Given the description of an element on the screen output the (x, y) to click on. 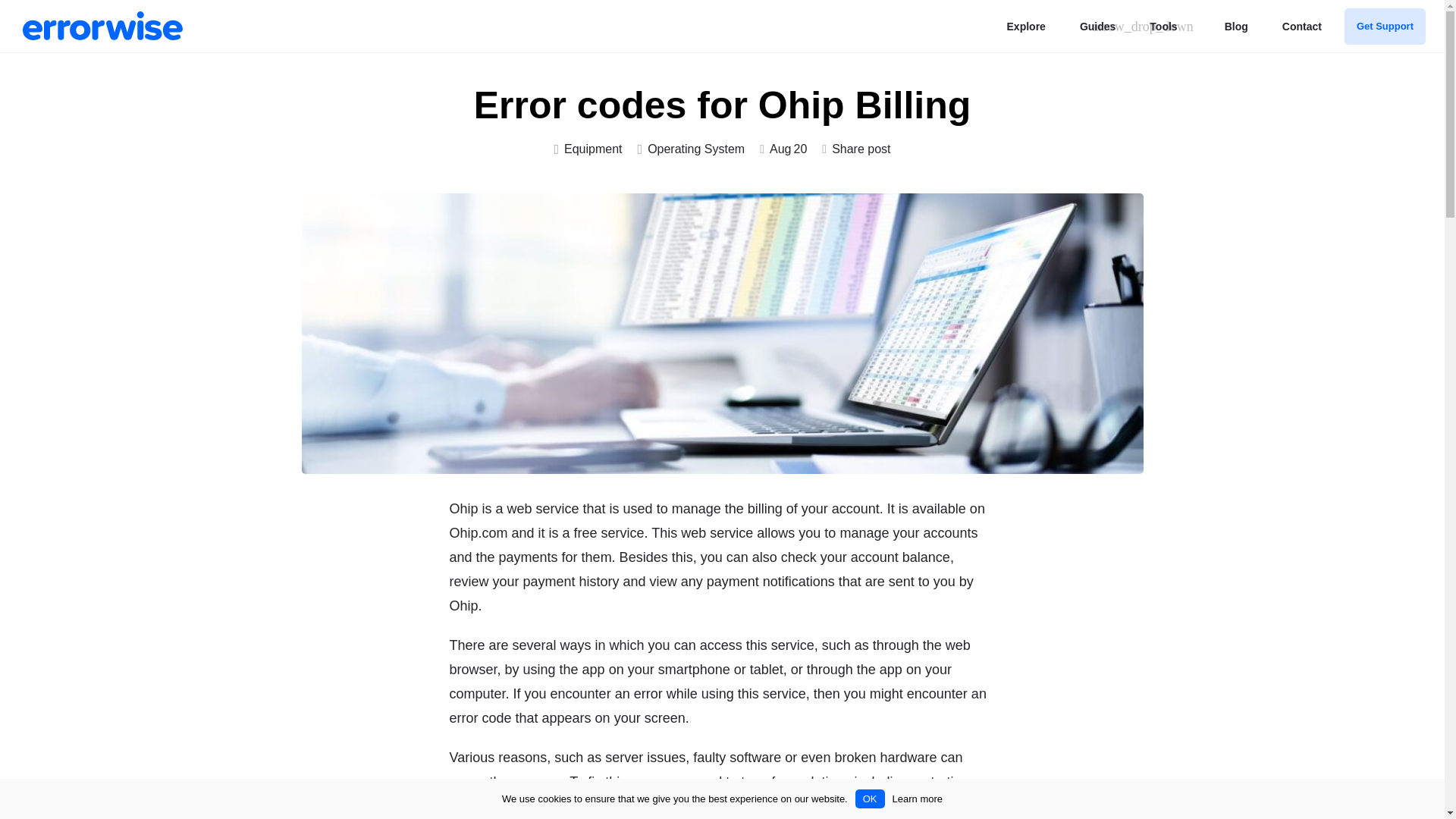
Explore (1026, 25)
Get Support (1384, 25)
Operating System (691, 148)
Share post (855, 148)
Contact (1302, 25)
Guides (1097, 25)
Tools (1163, 25)
Equipment (587, 148)
